Given the description of an element on the screen output the (x, y) to click on. 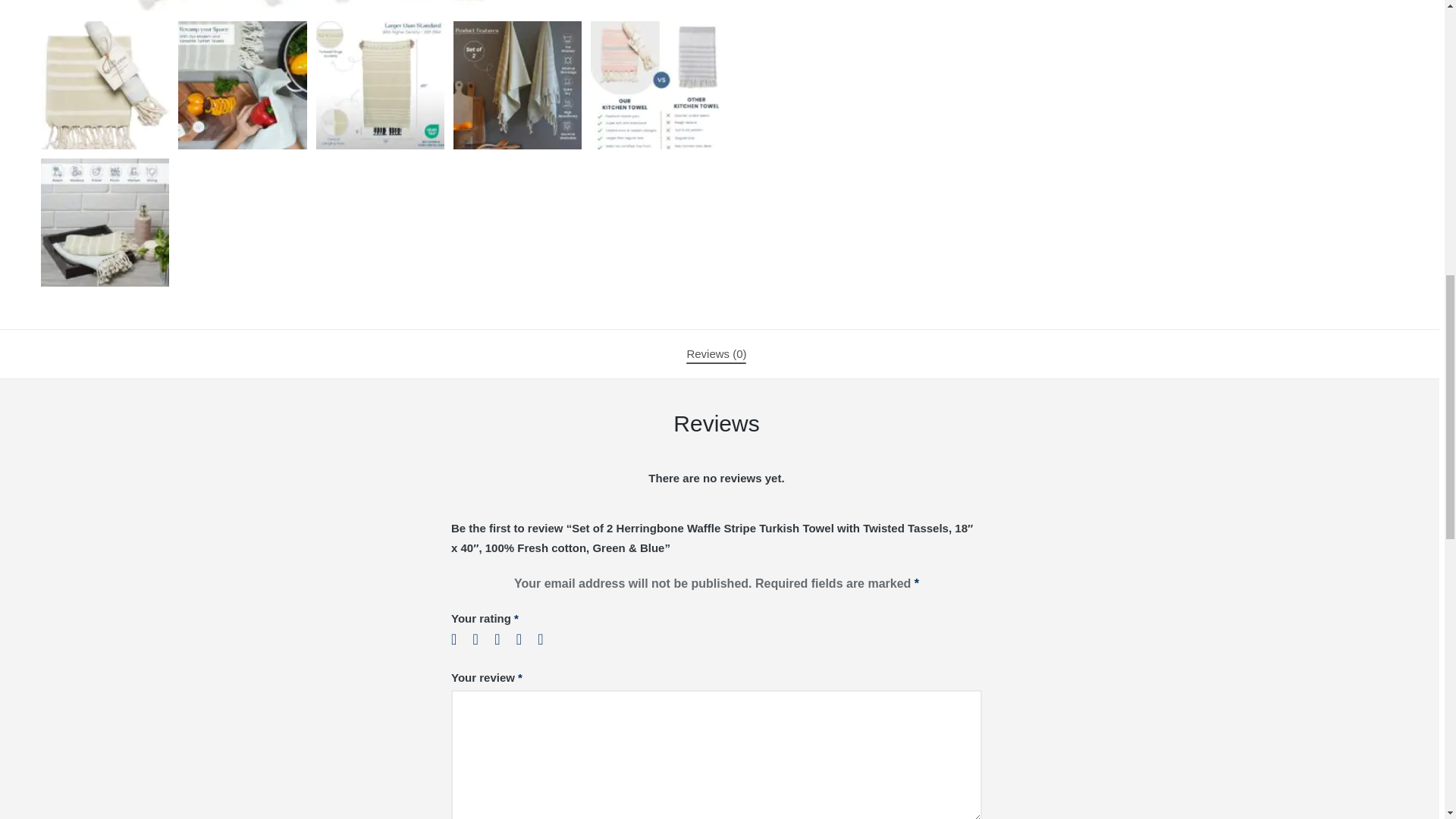
1 (459, 639)
2 (481, 639)
4 (525, 639)
3 (503, 639)
5 (545, 639)
